Given the description of an element on the screen output the (x, y) to click on. 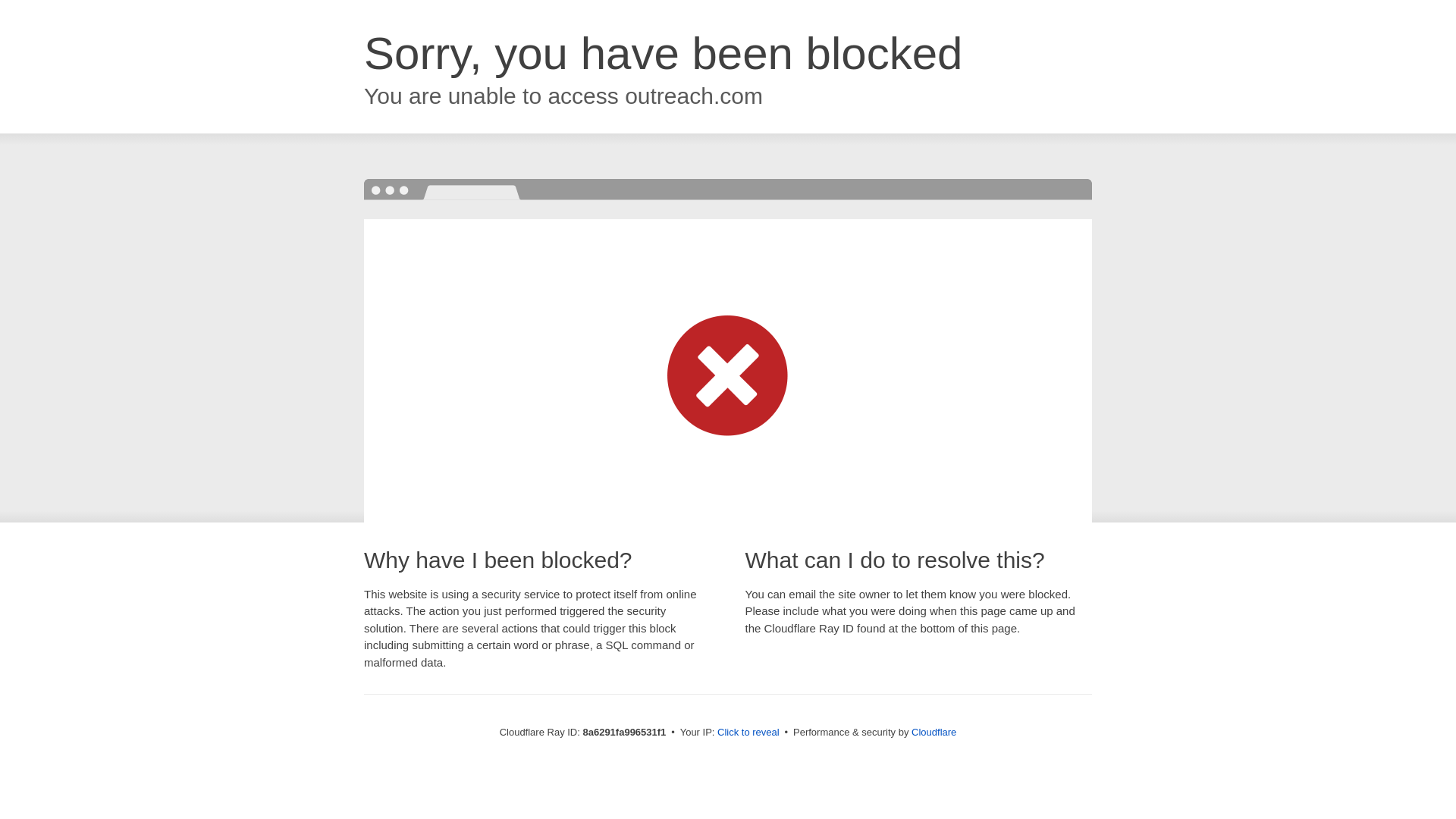
Click to reveal (747, 732)
Cloudflare (933, 731)
